Given the description of an element on the screen output the (x, y) to click on. 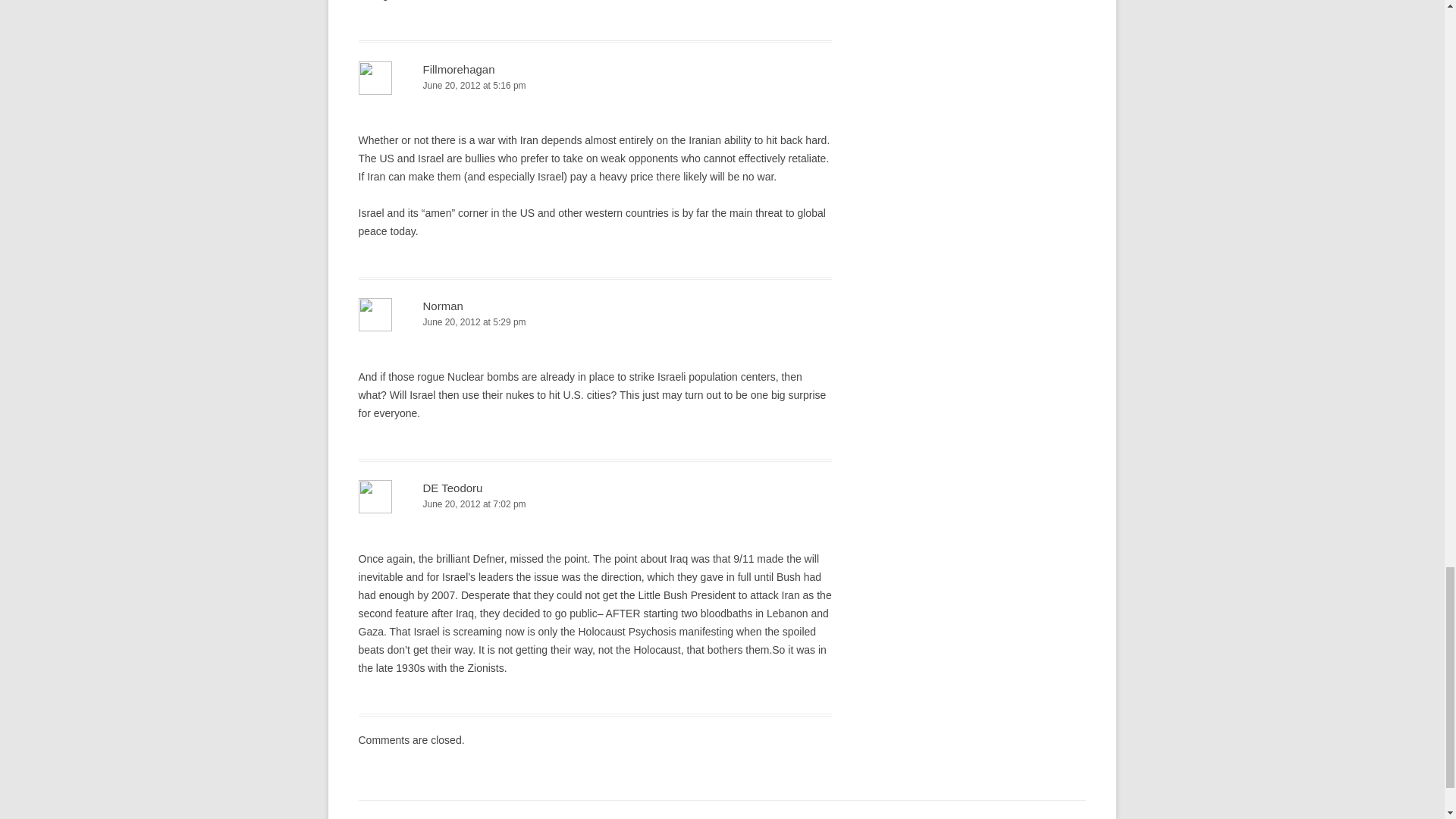
June 20, 2012 at 7:02 pm (594, 504)
June 20, 2012 at 5:16 pm (594, 85)
June 20, 2012 at 5:29 pm (594, 322)
